Given the description of an element on the screen output the (x, y) to click on. 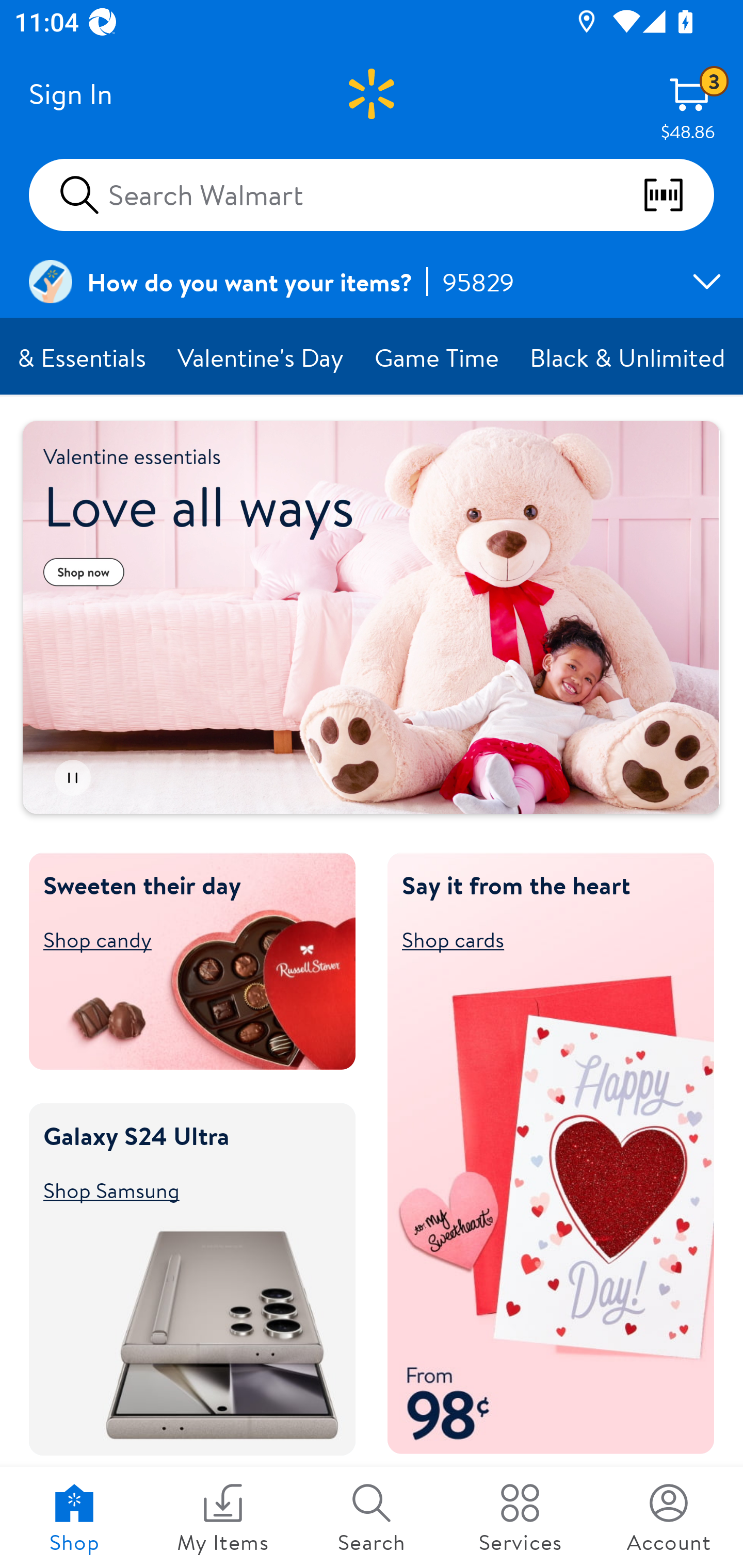
Sign In (70, 93)
Search Walmart scan barcodes qr codes and more (371, 194)
scan barcodes qr codes and more (677, 195)
Grocery & Essentials (81, 357)
Valentine's Day (261, 357)
Game Time (437, 357)
Black & Unlimited (628, 357)
Pause (72, 777)
Shop candy Shop candy Sweeten their day (183, 939)
Shop cards Shop cards Say it from the heart (541, 939)
Shop Samsung Shop Samsung Galaxy S24 Ultra (183, 1190)
My Items (222, 1517)
Search (371, 1517)
Services (519, 1517)
Account (668, 1517)
